Given the description of an element on the screen output the (x, y) to click on. 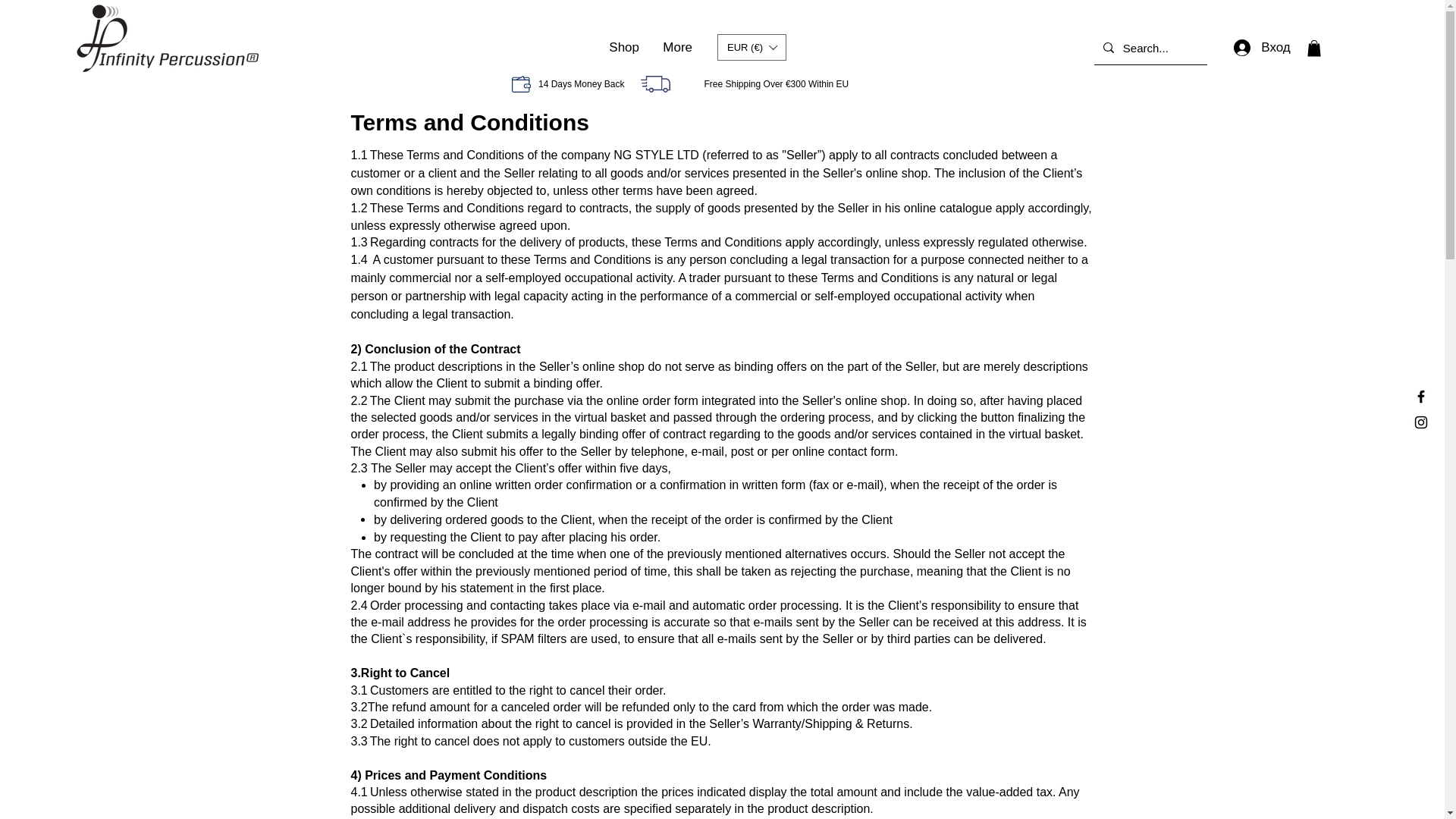
Shop (623, 47)
